Given the description of an element on the screen output the (x, y) to click on. 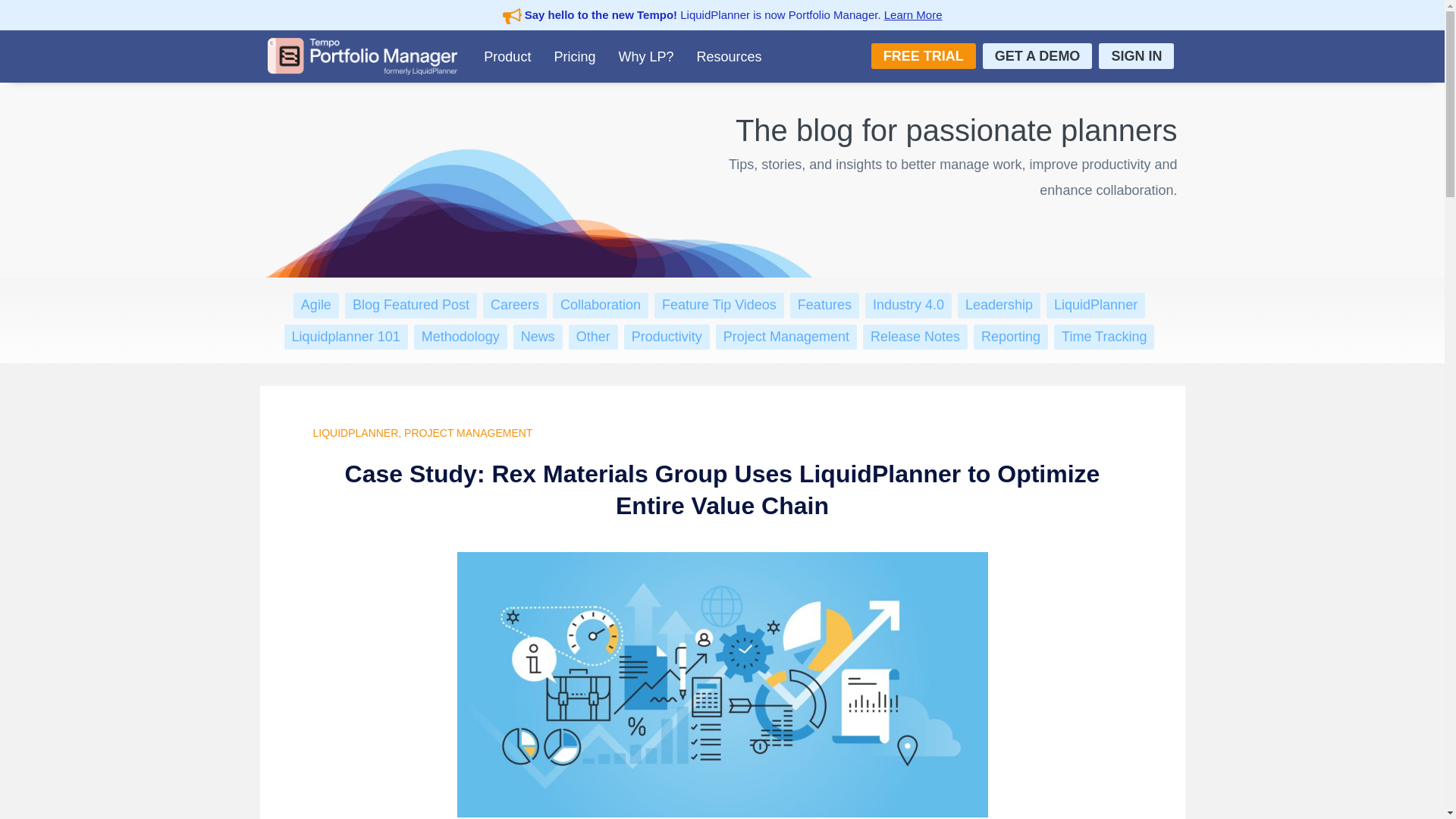
Project Management (785, 336)
Productivity (666, 336)
Product (506, 56)
Feature Tip Videos (719, 304)
FREE TRIAL (922, 55)
Leadership (998, 304)
Collaboration (600, 304)
Methodology (460, 336)
Liquidplanner 101 (346, 336)
Pricing (574, 56)
LIQUIDPLANNER (355, 432)
Agile (316, 304)
GET A DEMO (1037, 55)
Resources (728, 56)
Features (824, 304)
